Given the description of an element on the screen output the (x, y) to click on. 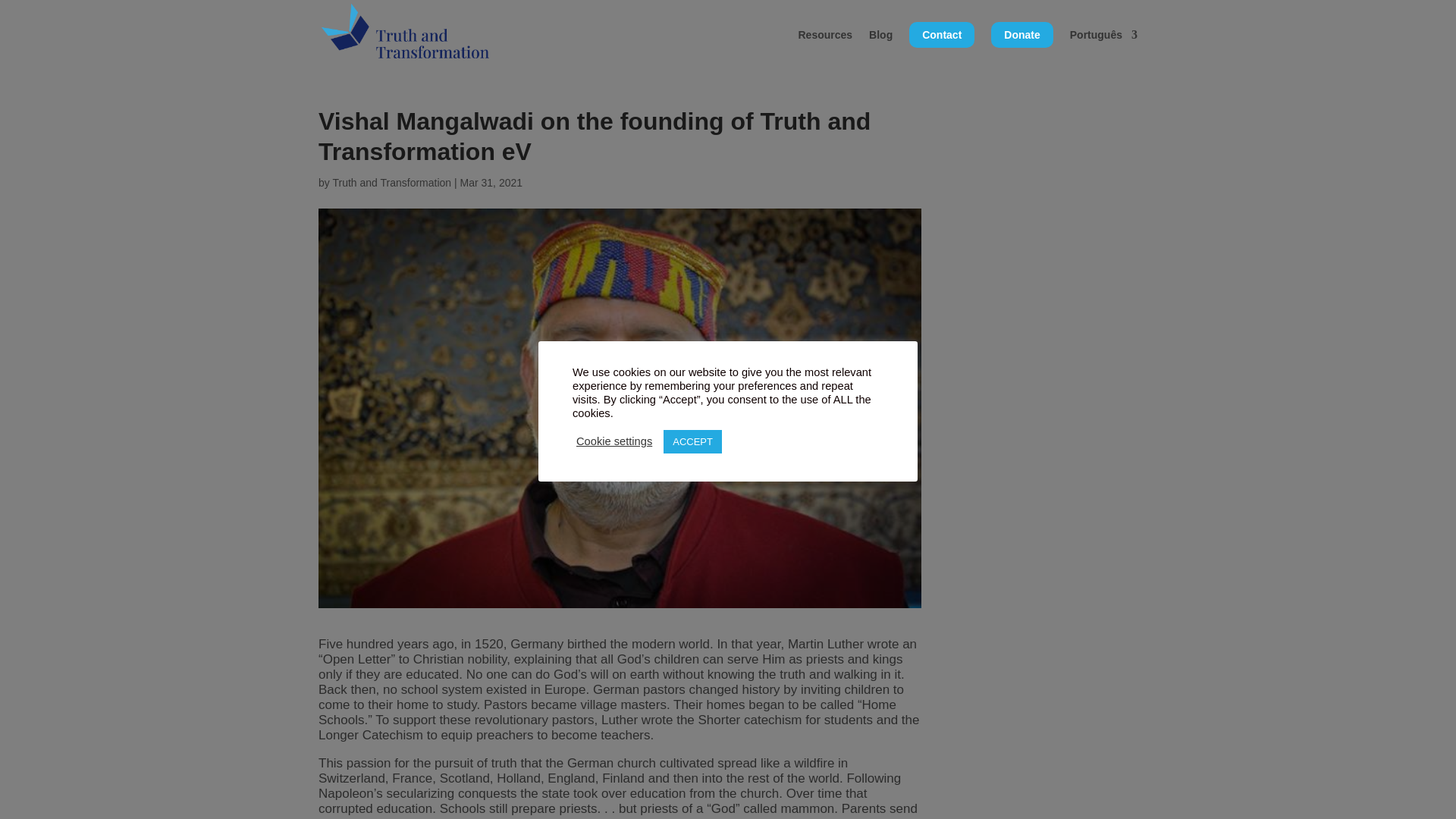
ACCEPT (692, 440)
Cookie settings (614, 440)
Posts by Truth and Transformation (391, 182)
Truth and Transformation (391, 182)
Resources (824, 45)
Donate (1021, 34)
Contact (941, 34)
